Given the description of an element on the screen output the (x, y) to click on. 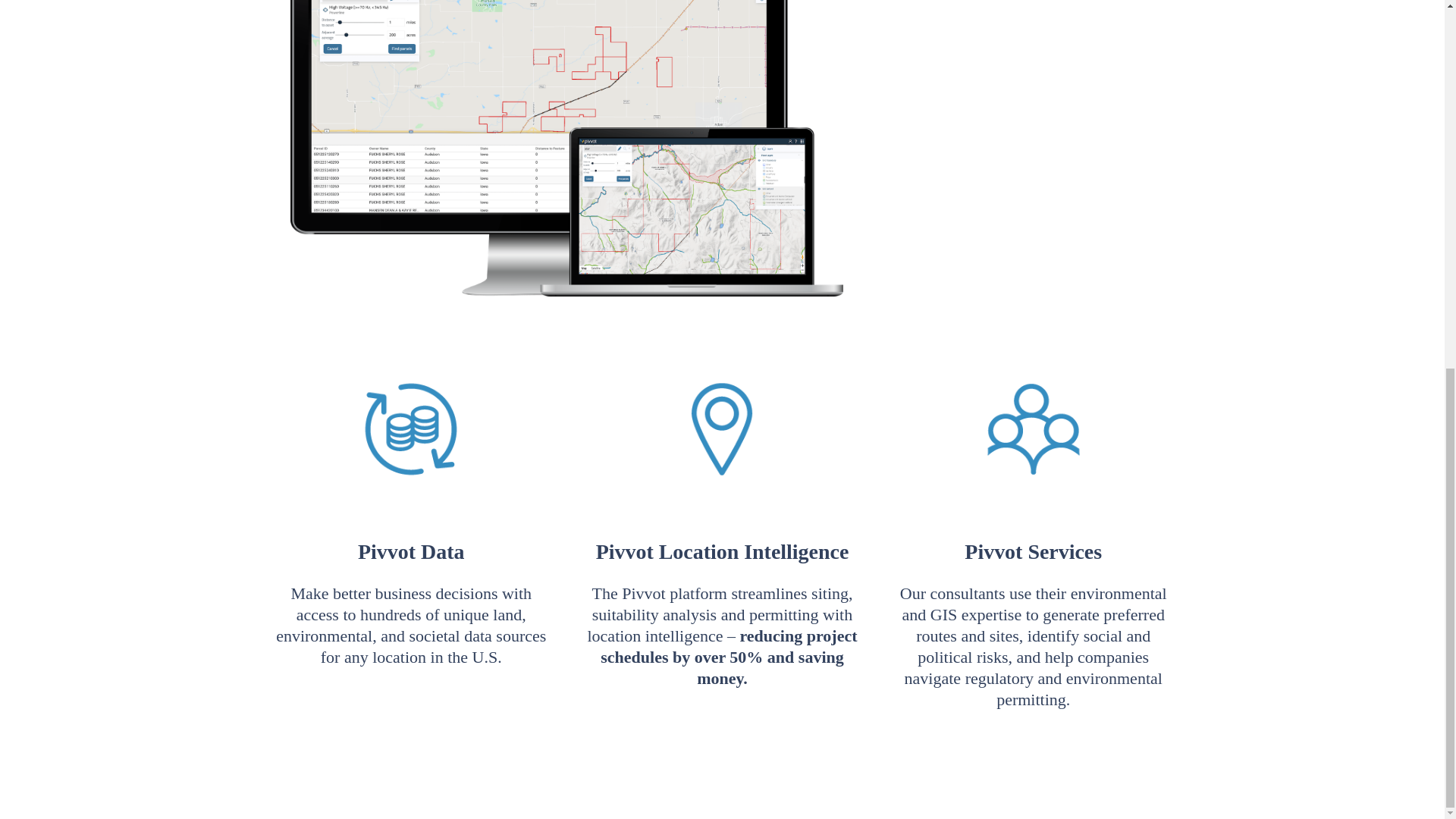
Other-LtBlue (721, 428)
Expert-LtBlue (1033, 428)
Data-LtBlue (410, 428)
